Given the description of an element on the screen output the (x, y) to click on. 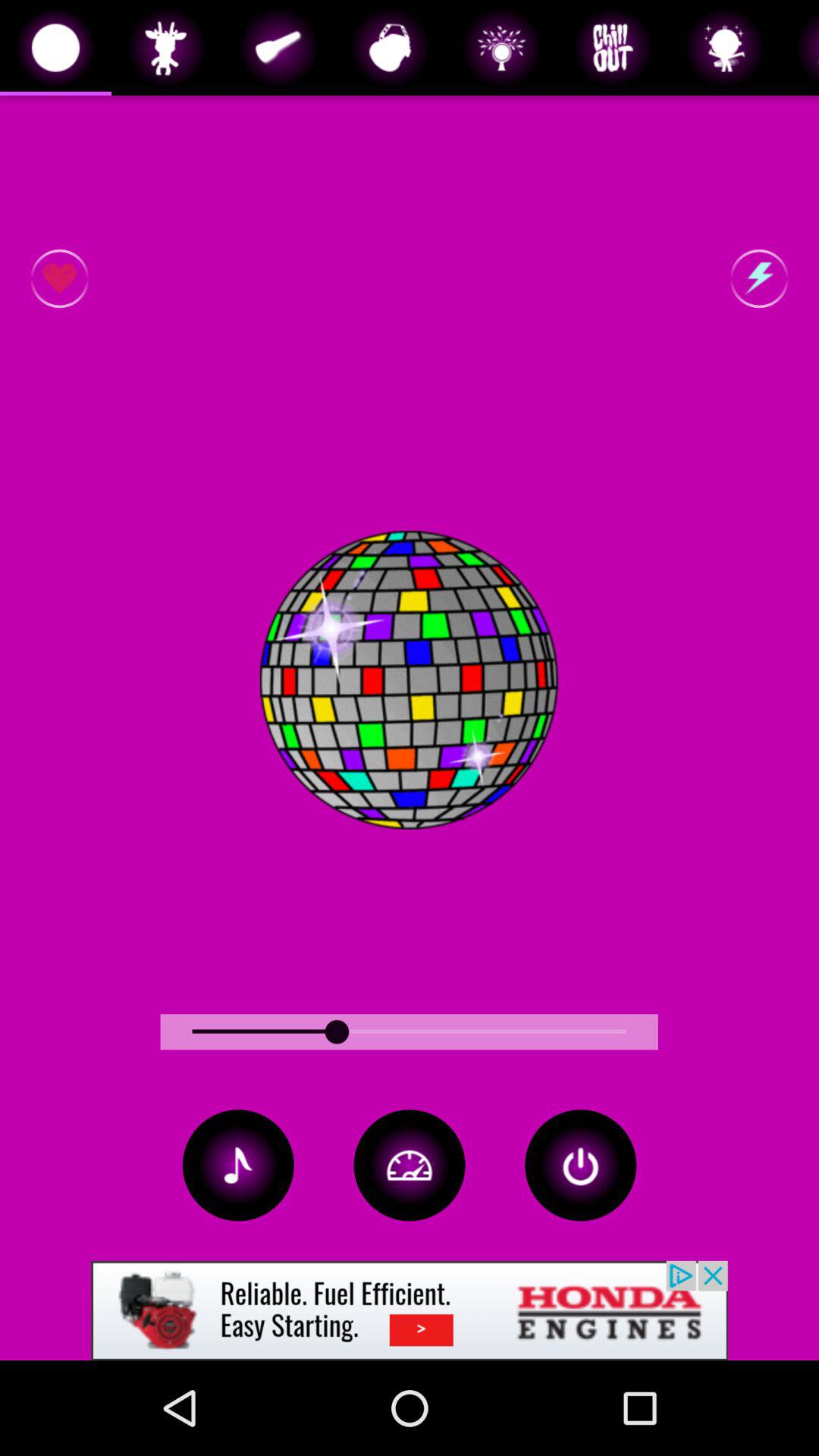
power off (580, 1165)
